Given the description of an element on the screen output the (x, y) to click on. 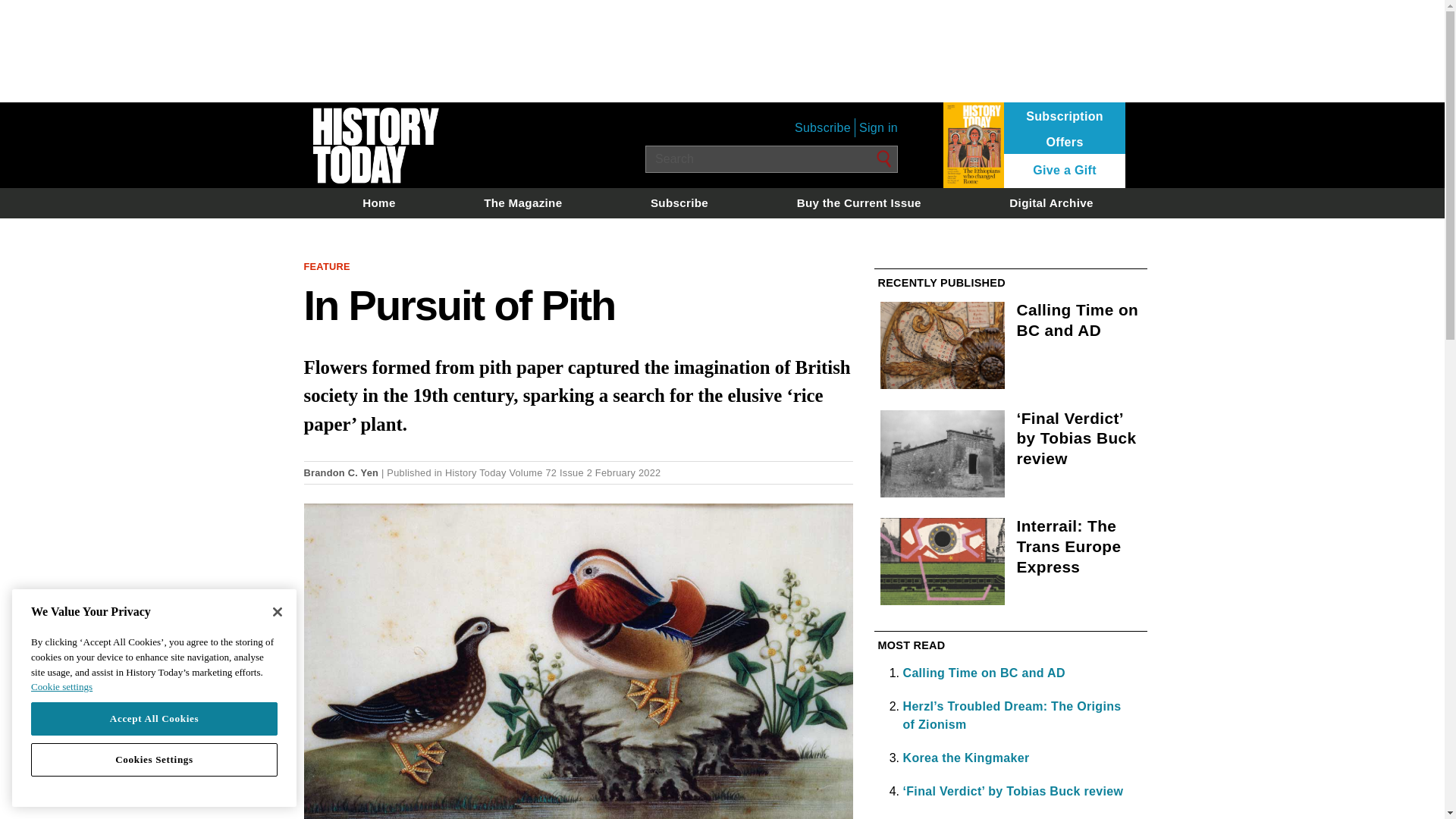
Home (378, 202)
Subscription (1064, 116)
History Today (475, 472)
Sign in (878, 127)
Offers (1064, 142)
FEATURE (325, 266)
Subscribe (678, 202)
Search (884, 158)
Subscribe (822, 127)
Brandon C. Yen (340, 472)
Buy the Current Issue (858, 202)
Search (884, 158)
Give a Gift (1064, 170)
Search (771, 158)
